Given the description of an element on the screen output the (x, y) to click on. 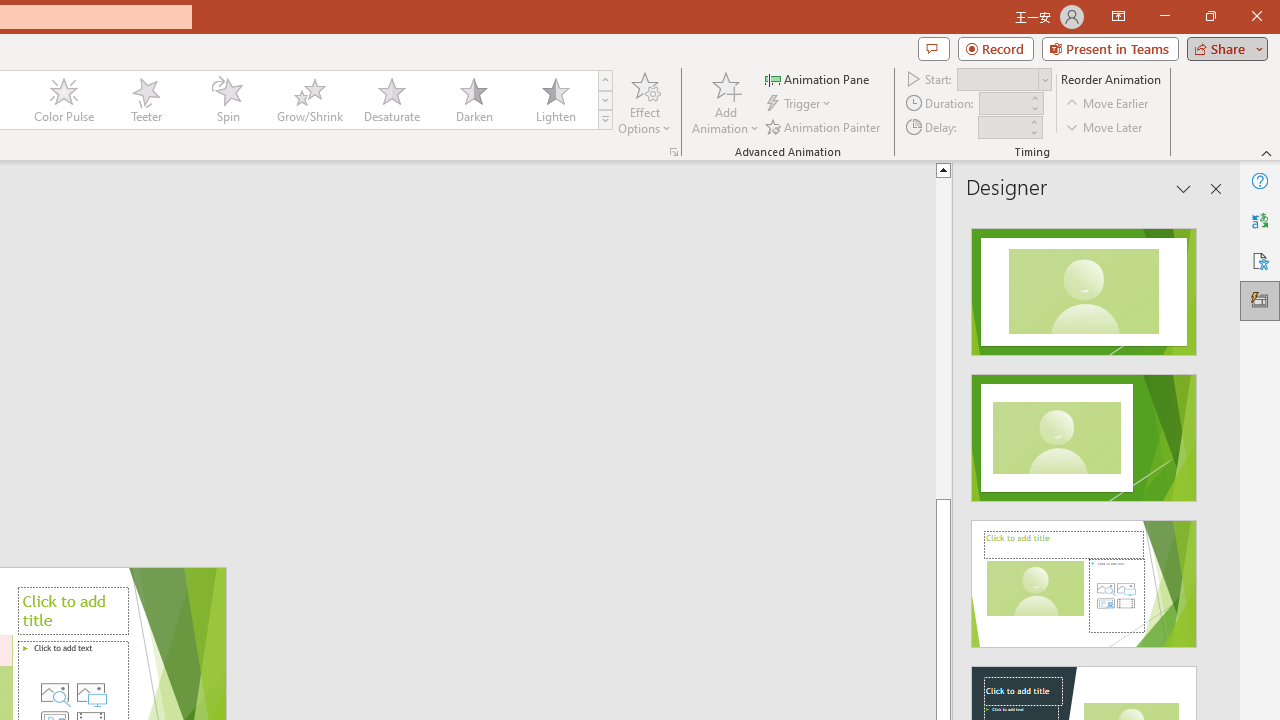
Minimize (1164, 16)
Page up (1011, 337)
Move Earlier (1107, 103)
Animation Duration (1003, 103)
Row up (605, 79)
Move Later (1105, 126)
Class: NetUIImage (605, 119)
Design Idea (1083, 577)
More Options... (673, 151)
Add Animation (725, 102)
Color Pulse (63, 100)
Translator (1260, 220)
Spin (227, 100)
